Given the description of an element on the screen output the (x, y) to click on. 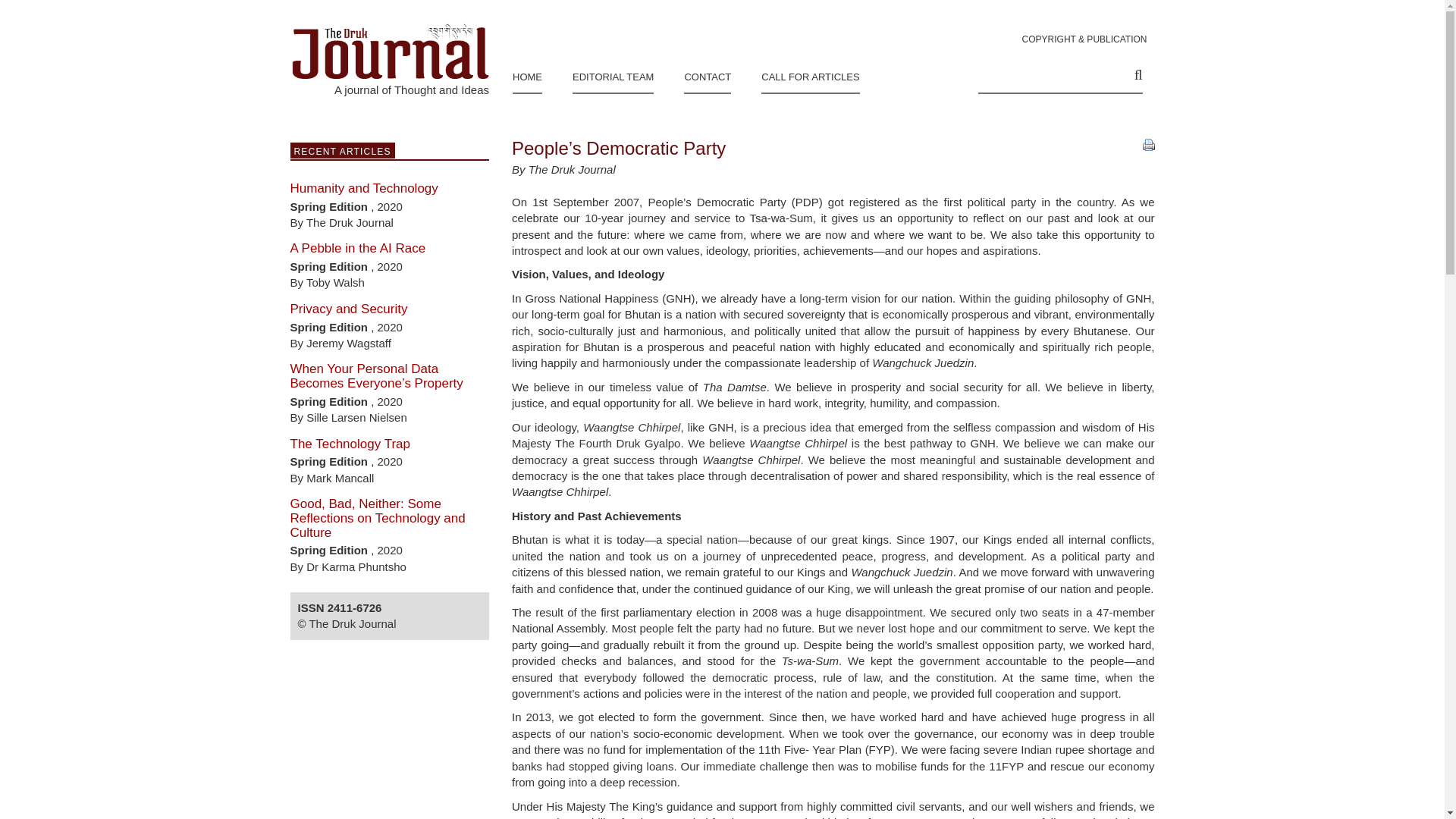
Call for Articles (810, 74)
Print This Article (1147, 144)
Humanity and Technology (363, 187)
Editorial Team (612, 74)
Contact (707, 74)
The Technology Trap (349, 443)
CONTACT (707, 74)
CALL FOR ARTICLES (810, 74)
A Pebble in the AI Race (357, 247)
